Given the description of an element on the screen output the (x, y) to click on. 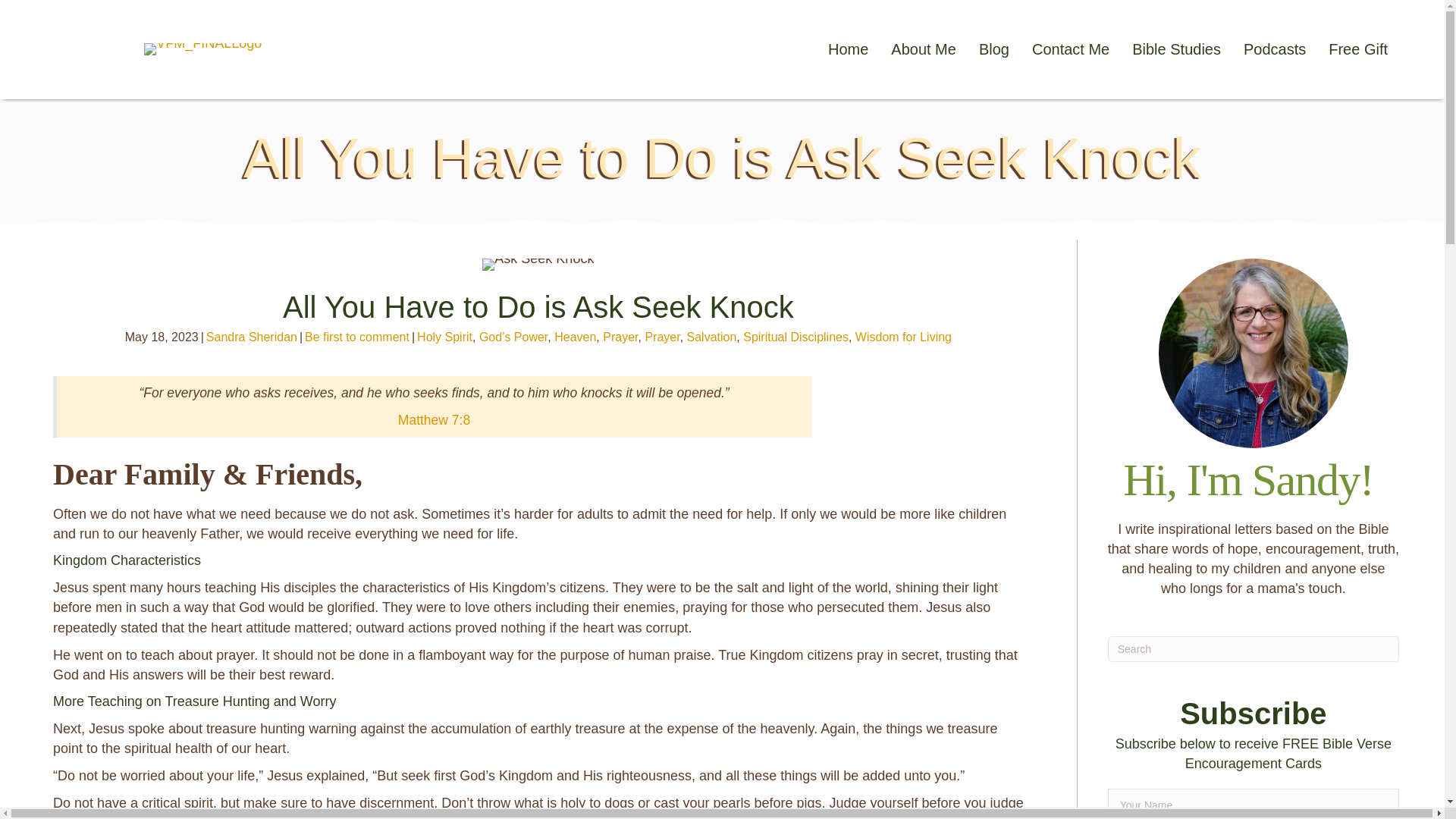
Holy Spirit (443, 336)
Prayer (619, 336)
Matthew 7:8 (433, 419)
Prayer (662, 336)
Podcasts (1274, 49)
Free Gift (1357, 49)
Type and press Enter to search. (1253, 648)
Sandra Sheridan (251, 336)
Home (848, 49)
Blog (993, 49)
Heaven (574, 336)
Wisdom for Living (904, 336)
Bible Studies (1176, 49)
About Me (923, 49)
Spiritual Disciplines (795, 336)
